Given the description of an element on the screen output the (x, y) to click on. 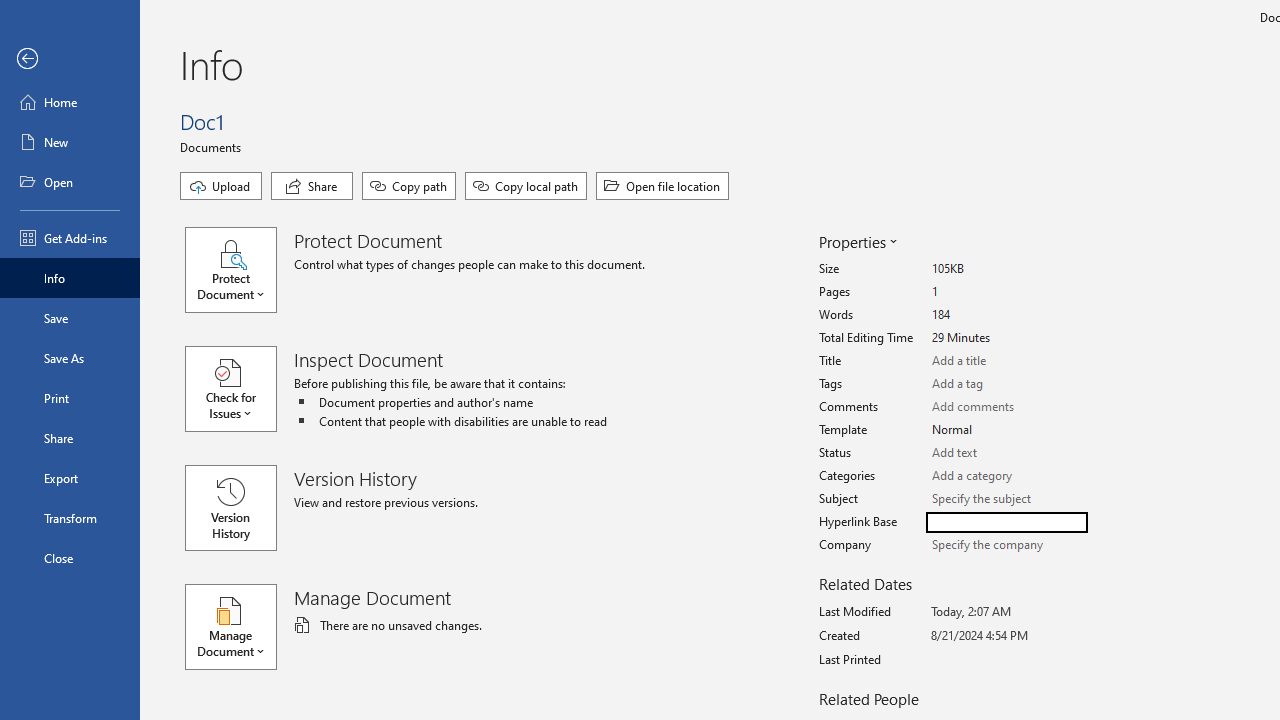
Home (69, 101)
Company (1006, 545)
Status (1006, 453)
Check for Issues (239, 389)
Close (69, 557)
Save As (69, 357)
Protect Document (239, 269)
Print (69, 398)
Properties (856, 241)
Open file location (662, 186)
Copy local path (525, 186)
Template (1006, 430)
Size (1006, 269)
Export (69, 477)
Hyperlink Base (1006, 522)
